Given the description of an element on the screen output the (x, y) to click on. 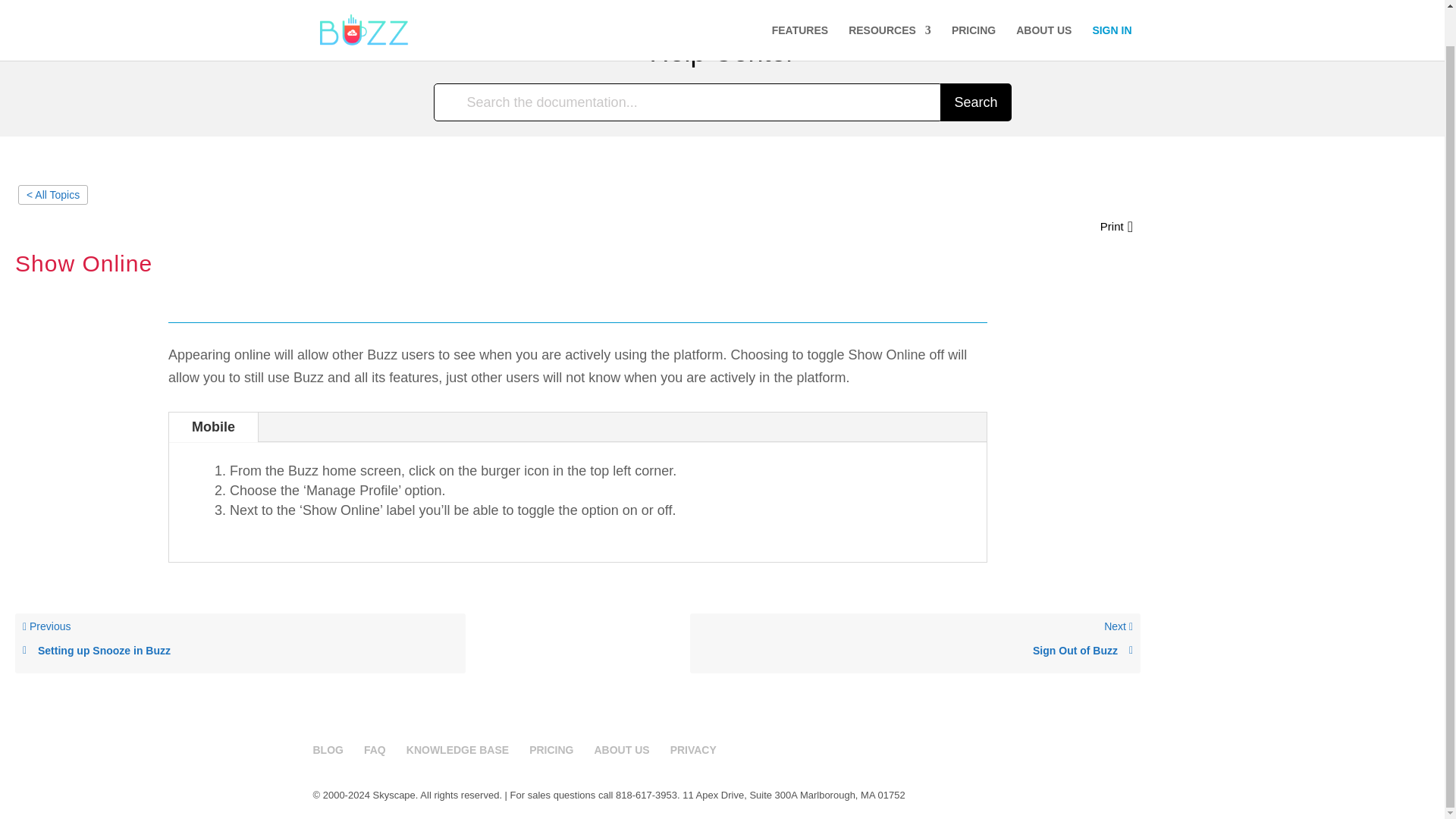
ABOUT US (621, 749)
Mobile (212, 427)
FAQ (239, 643)
Setting up Snooze in Buzz (374, 749)
BLOG (240, 650)
PRICING (327, 749)
Search (551, 749)
ABOUT US (975, 102)
Sign Out of Buzz (1043, 11)
